Given the description of an element on the screen output the (x, y) to click on. 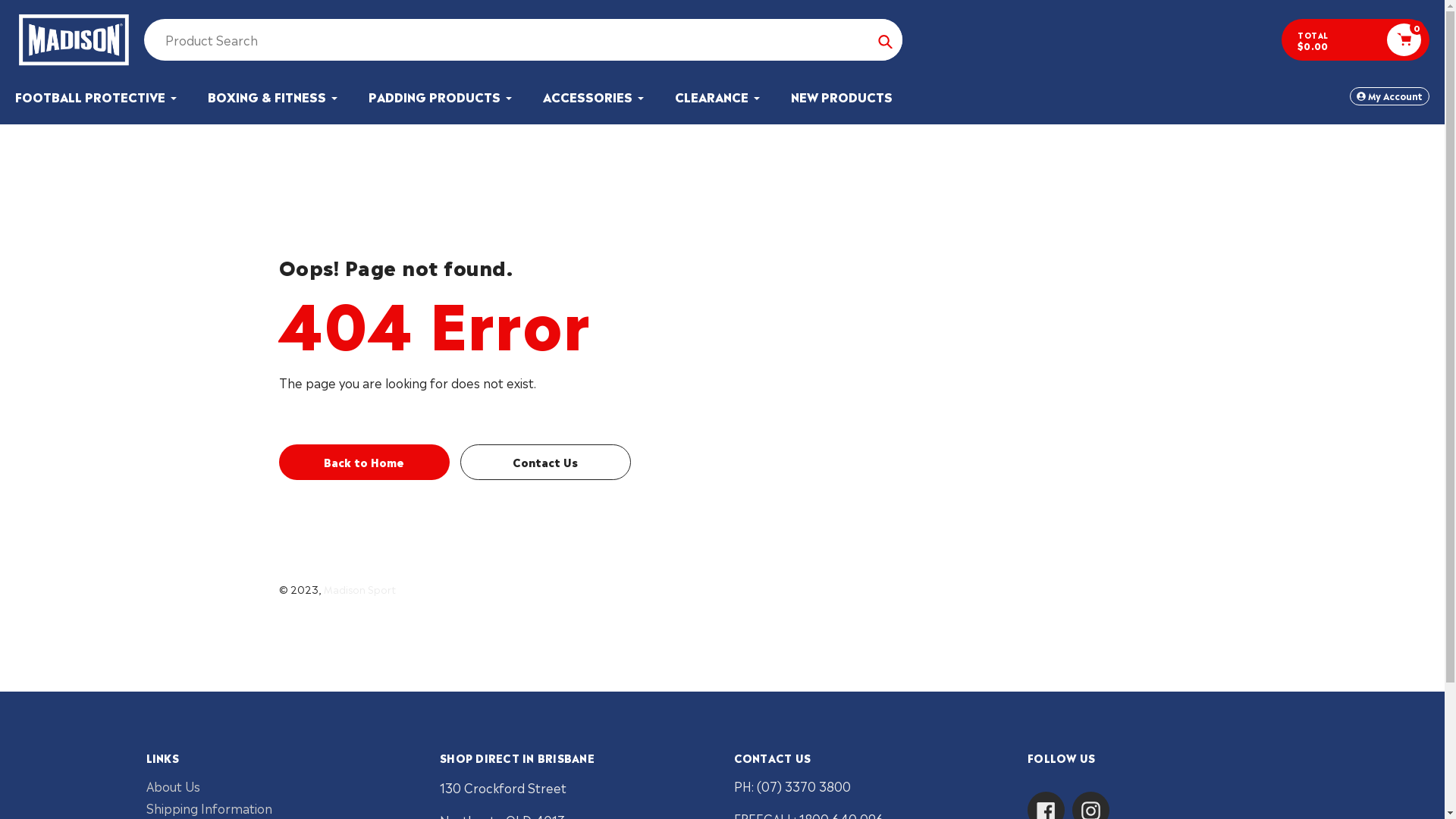
ACCESSORIES Element type: text (593, 96)
Contact Us Element type: text (544, 462)
BOXING & FITNESS Element type: text (272, 96)
FOOTBALL PROTECTIVE Element type: text (96, 96)
Search Element type: text (885, 39)
Back to Home Element type: text (364, 462)
PADDING PRODUCTS Element type: text (440, 96)
0 Element type: text (1403, 39)
About Us Element type: text (172, 785)
Madison Sport Element type: text (359, 588)
My Account Element type: text (1389, 96)
Shipping Information Element type: text (208, 807)
NEW PRODUCTS Element type: text (841, 96)
CLEARANCE Element type: text (717, 96)
